Given the description of an element on the screen output the (x, y) to click on. 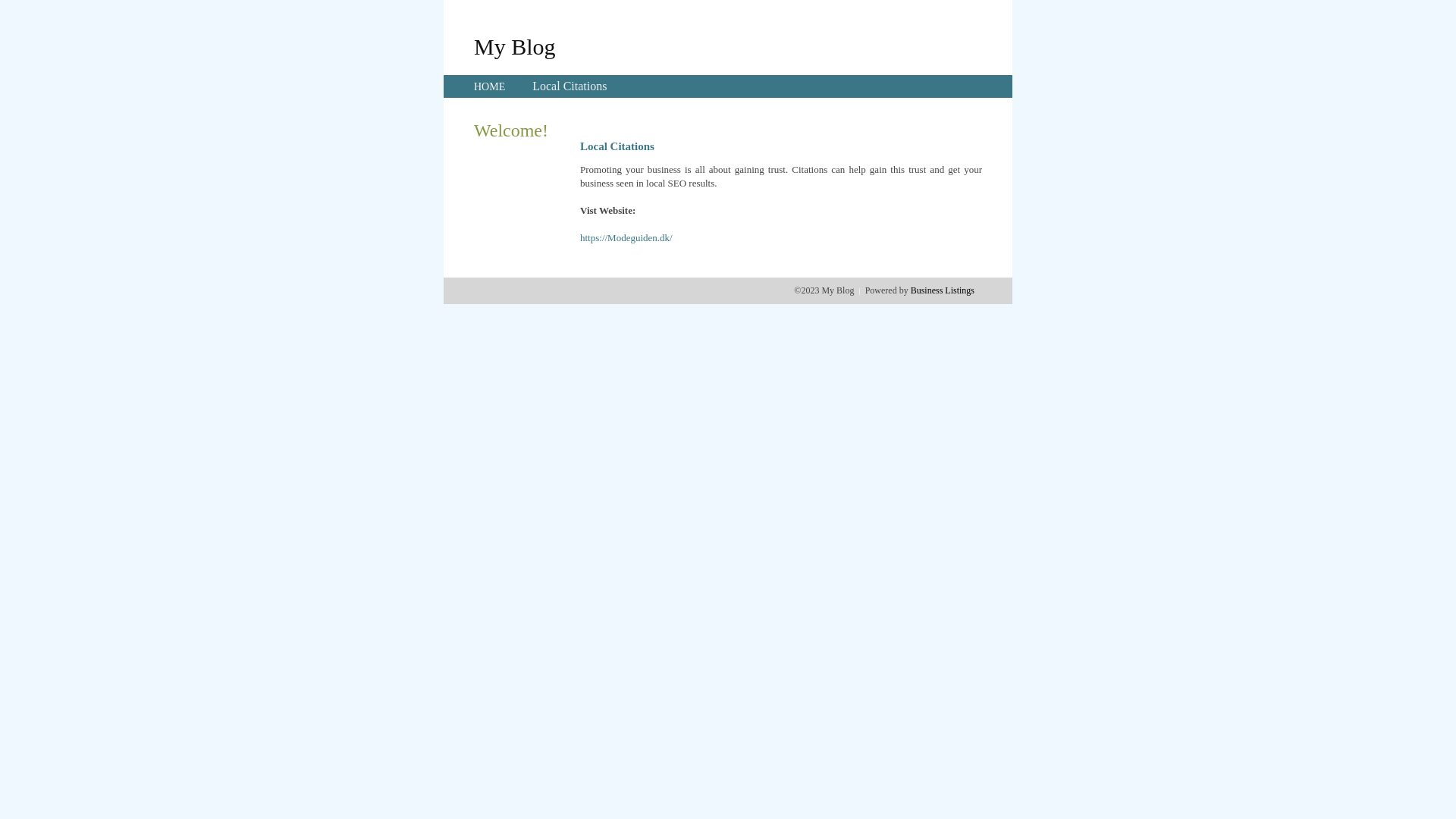
Business Listings Element type: text (942, 290)
My Blog Element type: text (514, 46)
HOME Element type: text (489, 86)
Local Citations Element type: text (569, 85)
https://Modeguiden.dk/ Element type: text (626, 237)
